Given the description of an element on the screen output the (x, y) to click on. 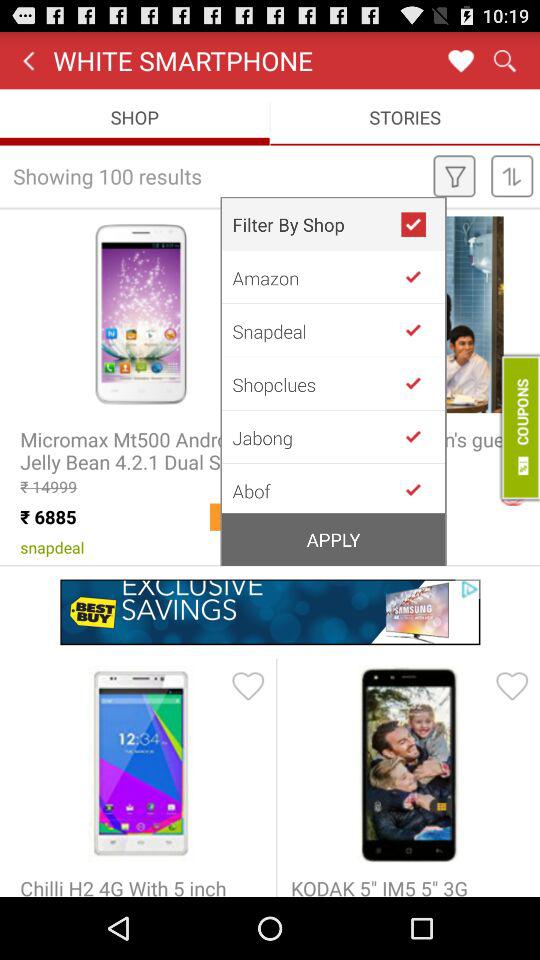
a clickable box that shows a checkmark in red when you filter a search request (422, 224)
